Given the description of an element on the screen output the (x, y) to click on. 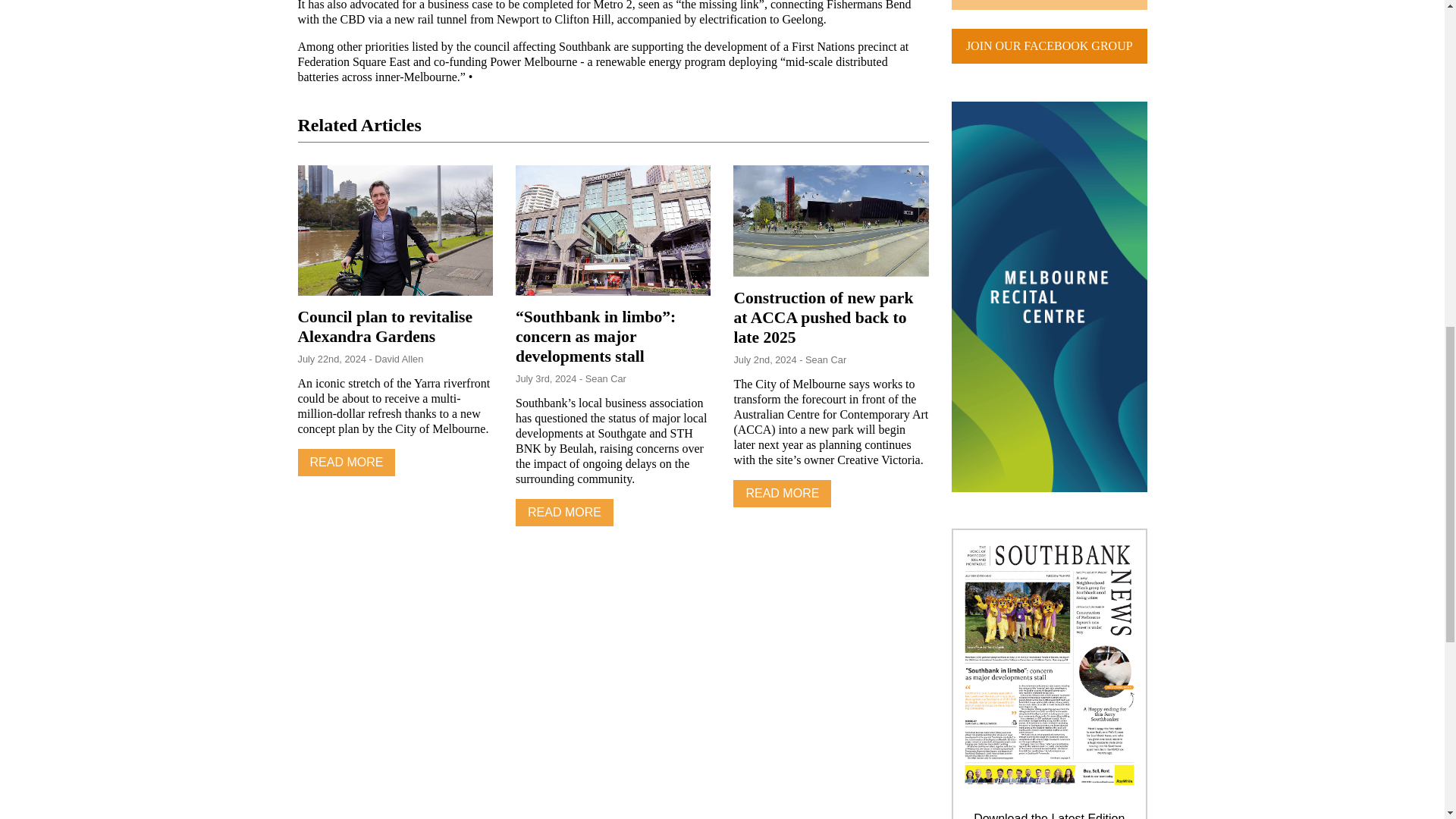
READ MORE (345, 461)
JOIN OUR FACEBOOK GROUP (1049, 45)
Construction of new park at ACCA pushed back to late 2025 (822, 317)
Council plan to revitalise Alexandra Gardens (384, 326)
READ MORE (782, 492)
SIGN UP (1049, 4)
READ MORE (563, 512)
